Given the description of an element on the screen output the (x, y) to click on. 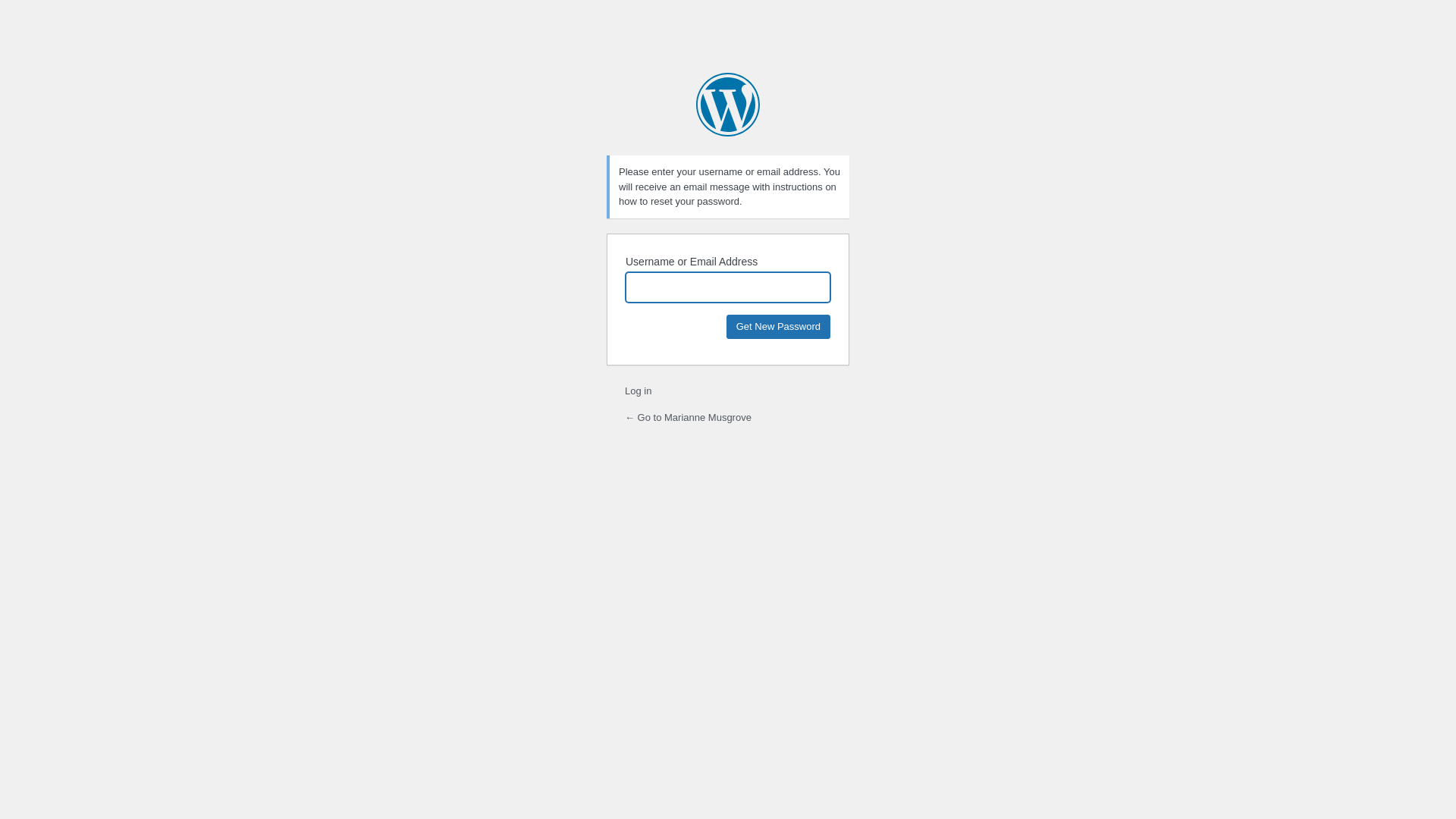
Powered by WordPress Element type: text (727, 104)
Log in Element type: text (637, 390)
Get New Password Element type: text (778, 325)
